Given the description of an element on the screen output the (x, y) to click on. 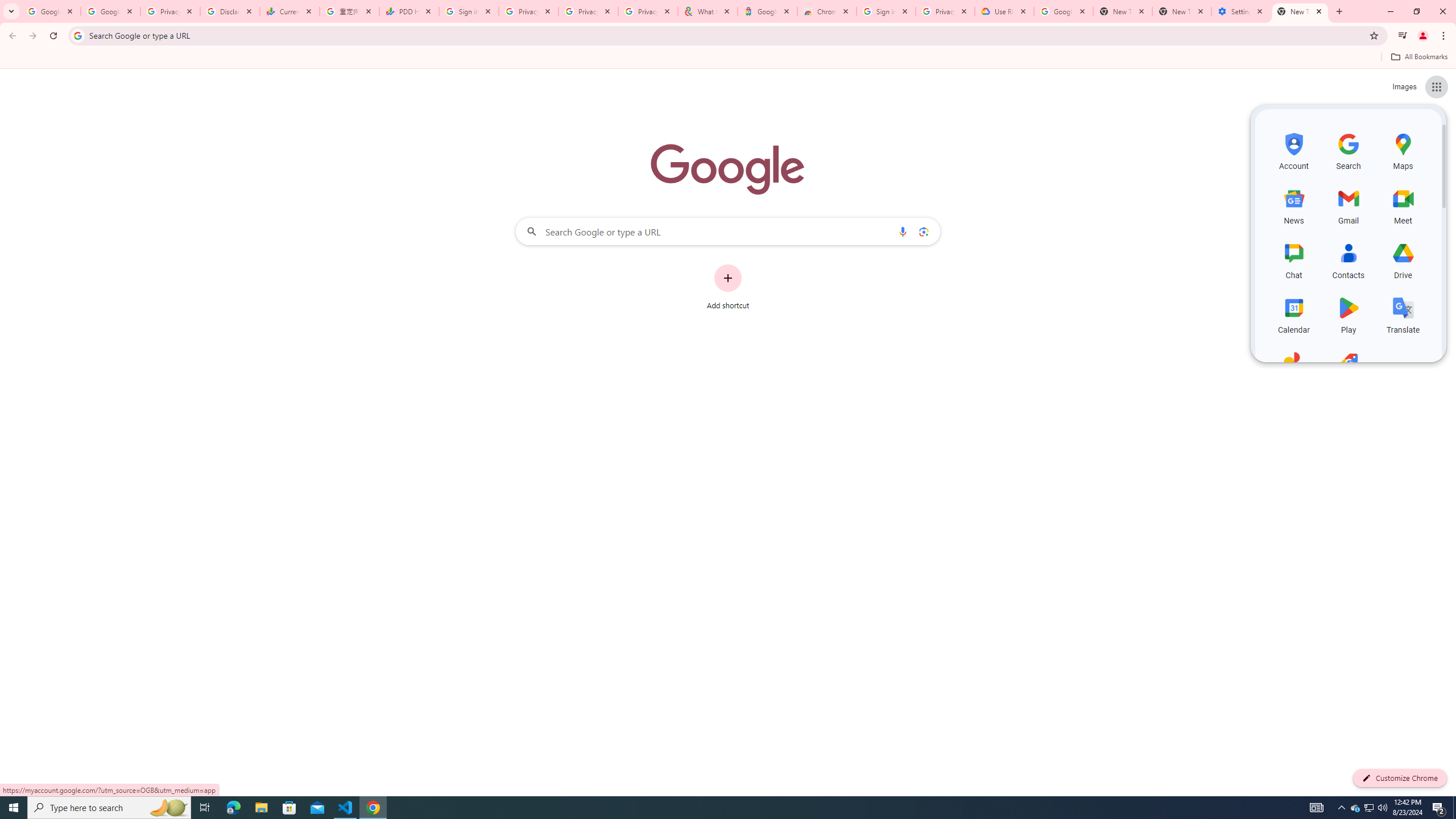
Chrome Web Store - Color themes by Chrome (826, 11)
Contacts, row 3 of 5 and column 2 of 3 in the first section (1348, 259)
Play, row 4 of 5 and column 2 of 3 in the first section (1348, 313)
Translate, row 4 of 5 and column 3 of 3 in the first section (1402, 313)
Google (767, 11)
Bookmarks (728, 58)
Sign in - Google Accounts (885, 11)
Account, row 1 of 5 and column 1 of 3 in the first section (1293, 149)
Privacy Checkup (647, 11)
Sign in - Google Accounts (468, 11)
